Given the description of an element on the screen output the (x, y) to click on. 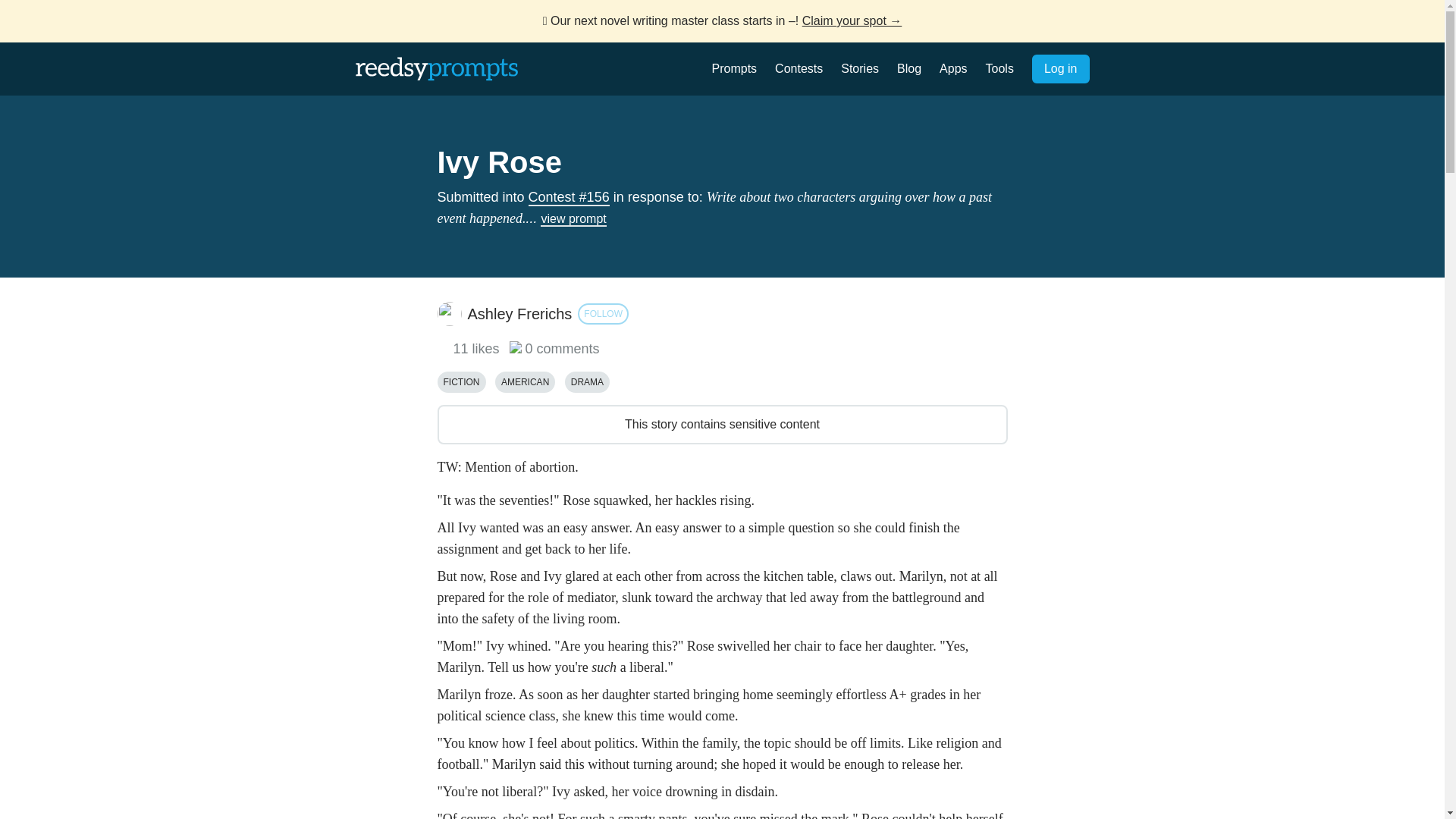
Contests (798, 68)
0 comments (554, 348)
Stories (860, 68)
Blog (908, 68)
Prompts (734, 68)
Apps (952, 68)
Tools (999, 68)
Log in (1060, 68)
